Given the description of an element on the screen output the (x, y) to click on. 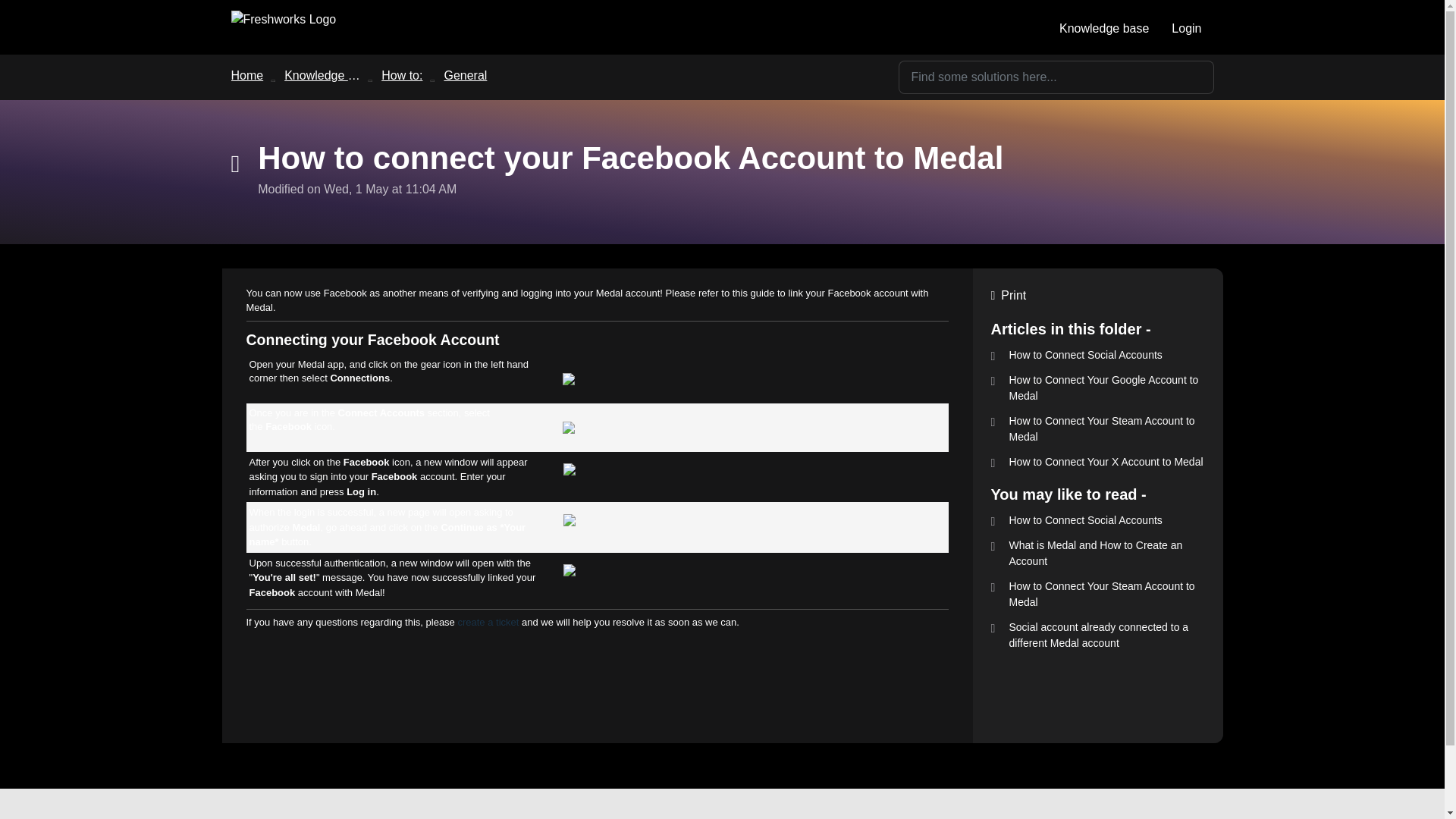
How to Connect Your Steam Account to Medal (1097, 594)
General (465, 74)
How to Connect Social Accounts (1097, 355)
Home (246, 74)
Knowledge base (328, 74)
Print (1097, 295)
How to Connect Social Accounts (1097, 520)
How to Connect Your Google Account to Medal (1097, 388)
How to Connect Your X Account to Medal (1097, 462)
How to: (401, 74)
